Given the description of an element on the screen output the (x, y) to click on. 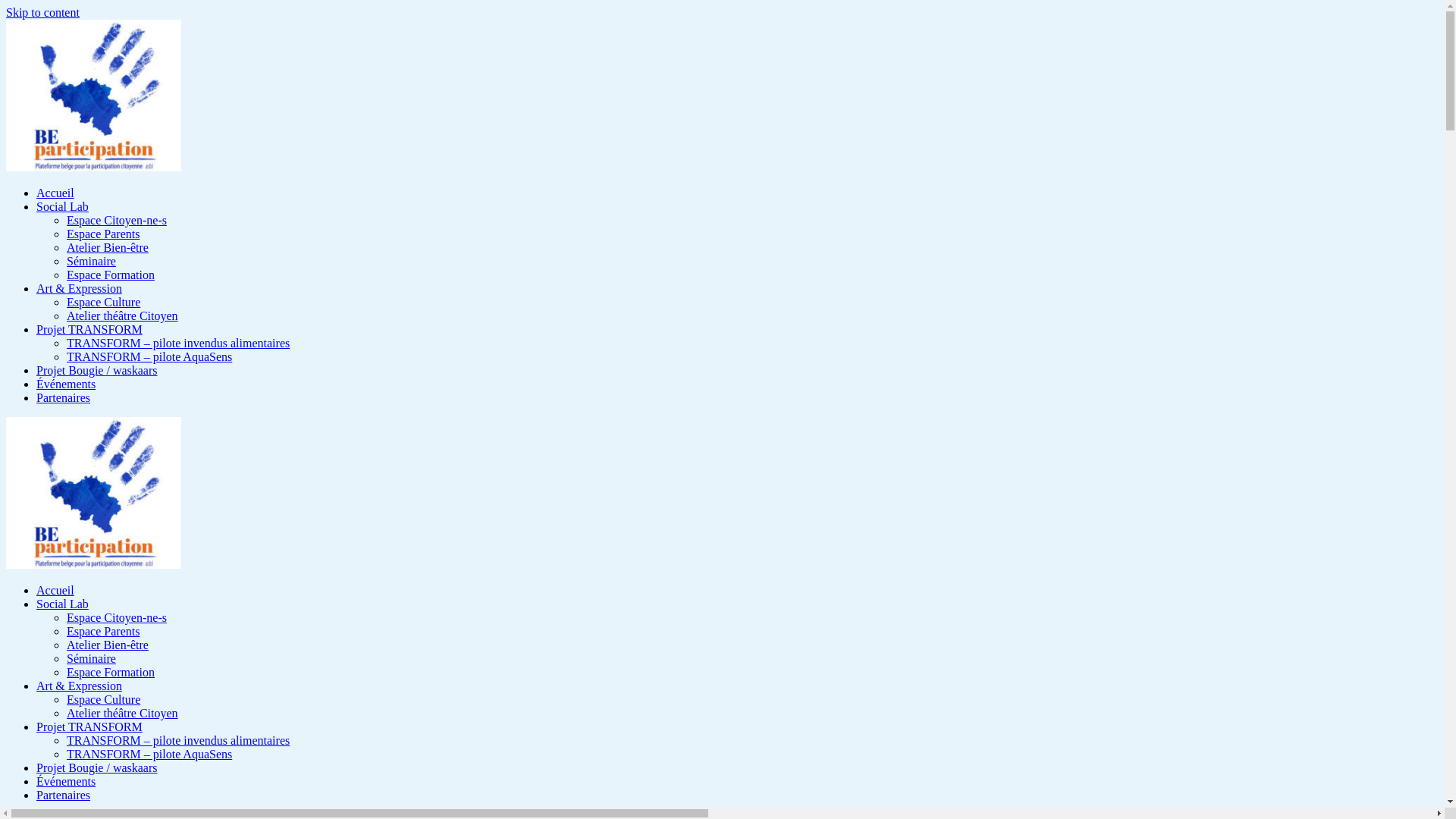
Espace Parents Element type: text (102, 630)
Accueil Element type: text (55, 192)
Espace Parents Element type: text (102, 233)
Social Lab Element type: text (62, 206)
Art & Expression Element type: text (79, 288)
Espace Formation Element type: text (110, 671)
Espace Culture Element type: text (103, 301)
Espace Formation Element type: text (110, 274)
Projet TRANSFORM Element type: text (89, 329)
Accueil Element type: text (55, 589)
Espace Culture Element type: text (103, 699)
Espace Citoyen-ne-s Element type: text (116, 219)
Social Lab Element type: text (62, 603)
Espace Citoyen-ne-s Element type: text (116, 617)
Partenaires Element type: text (63, 397)
Partenaires Element type: text (63, 794)
Skip to content Element type: text (42, 12)
Projet TRANSFORM Element type: text (89, 726)
Projet Bougie / waskaars Element type: text (96, 370)
Art & Expression Element type: text (79, 685)
Projet Bougie / waskaars Element type: text (96, 767)
